Given the description of an element on the screen output the (x, y) to click on. 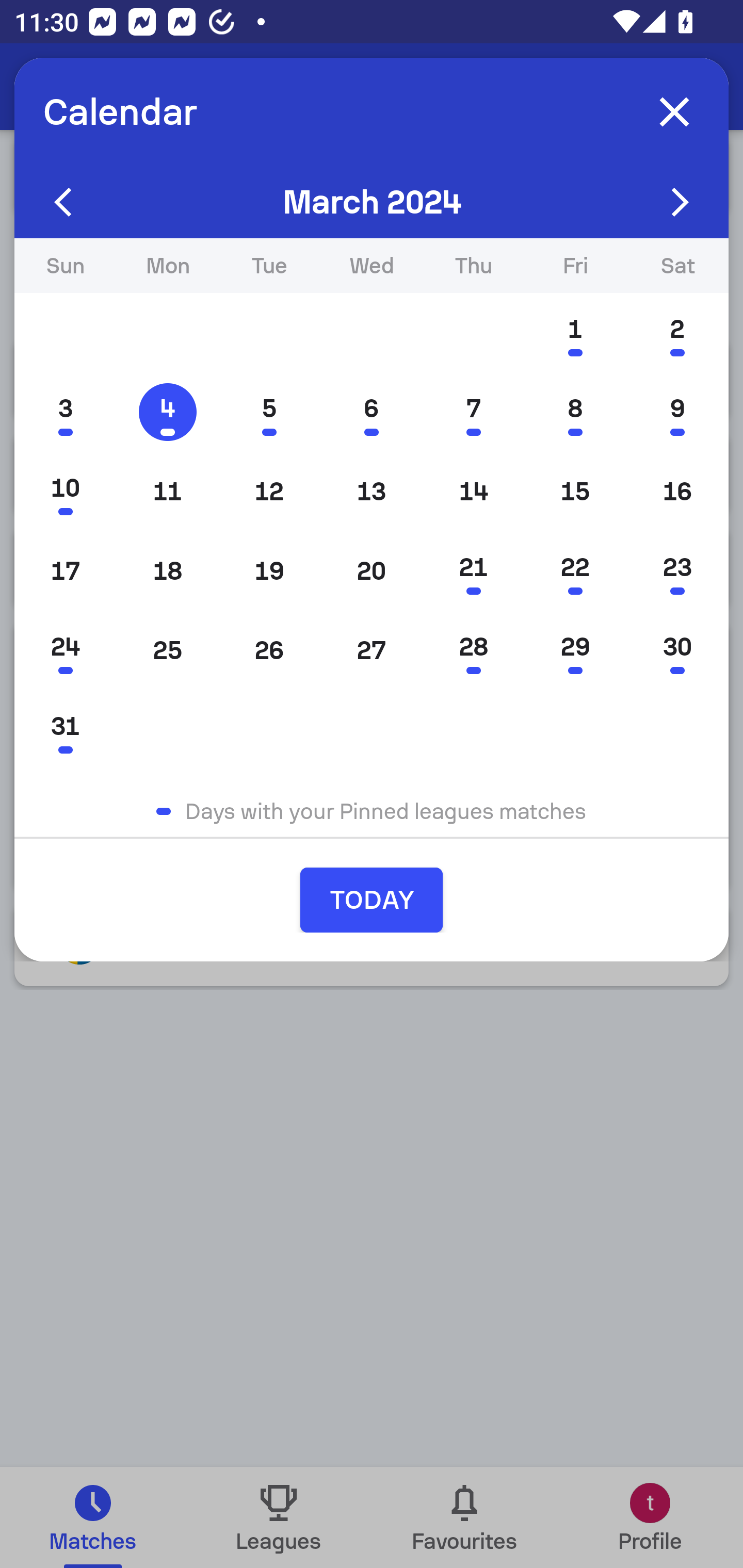
Handball (124, 86)
1 (575, 333)
2 (677, 333)
3 (65, 412)
4 (167, 412)
5 (269, 412)
6 (371, 412)
7 (473, 412)
8 (575, 412)
9 (677, 412)
10 (65, 491)
11 (167, 491)
12 (269, 491)
13 (371, 491)
14 (473, 491)
15 (575, 491)
16 (677, 491)
17 (65, 570)
18 (167, 570)
19 (269, 570)
20 (371, 570)
21 (473, 570)
22 (575, 570)
23 (677, 570)
24 (65, 649)
25 (167, 649)
26 (269, 649)
27 (371, 649)
28 (473, 649)
29 (575, 649)
30 (677, 649)
31 (65, 729)
3:30 PM - HCM Sighisoara U. Cluj (371, 834)
TODAY (371, 899)
Leagues (278, 1517)
Favourites (464, 1517)
Profile (650, 1517)
